Given the description of an element on the screen output the (x, y) to click on. 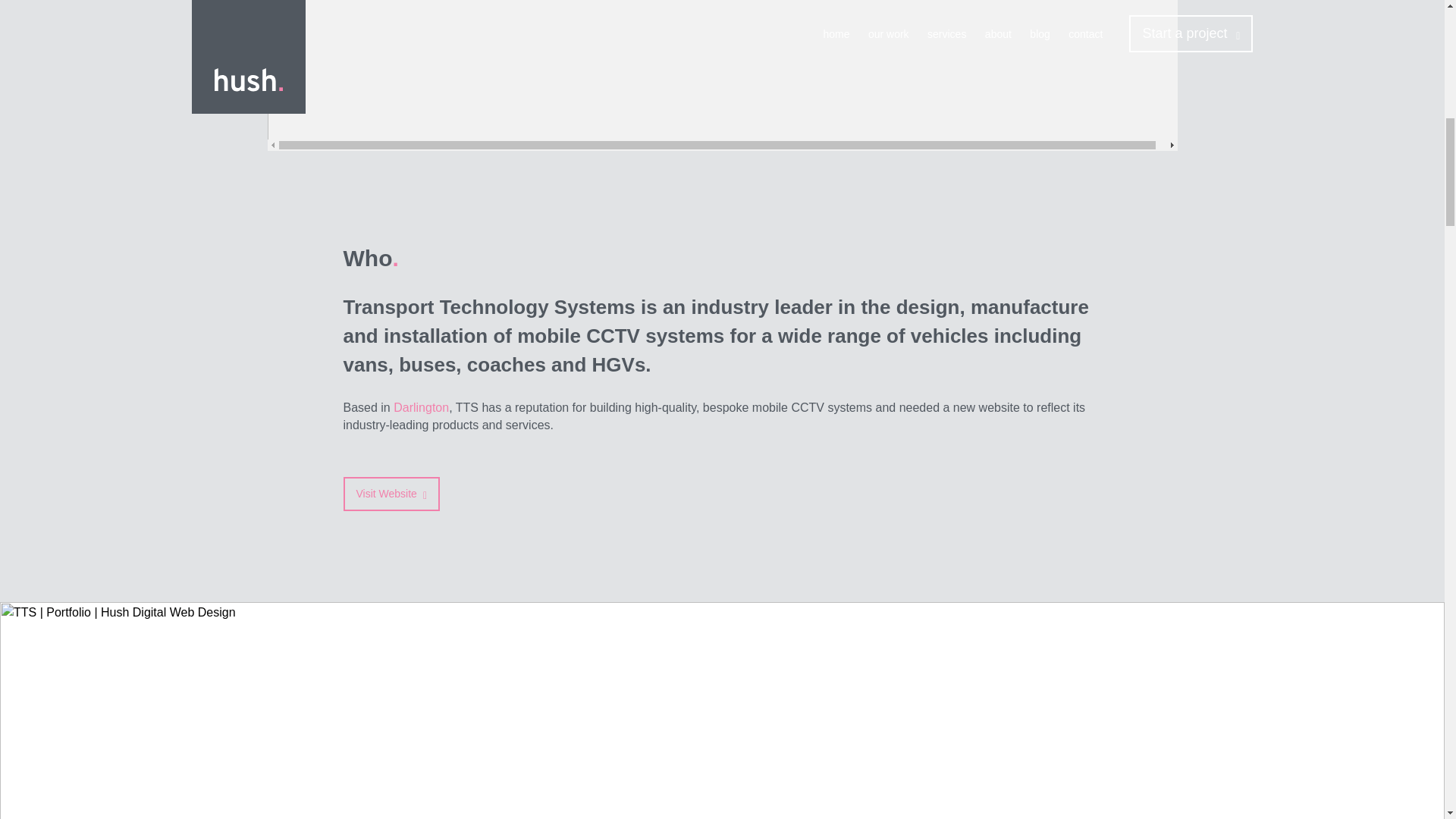
Visit Website (390, 493)
Darlington (420, 407)
